Given the description of an element on the screen output the (x, y) to click on. 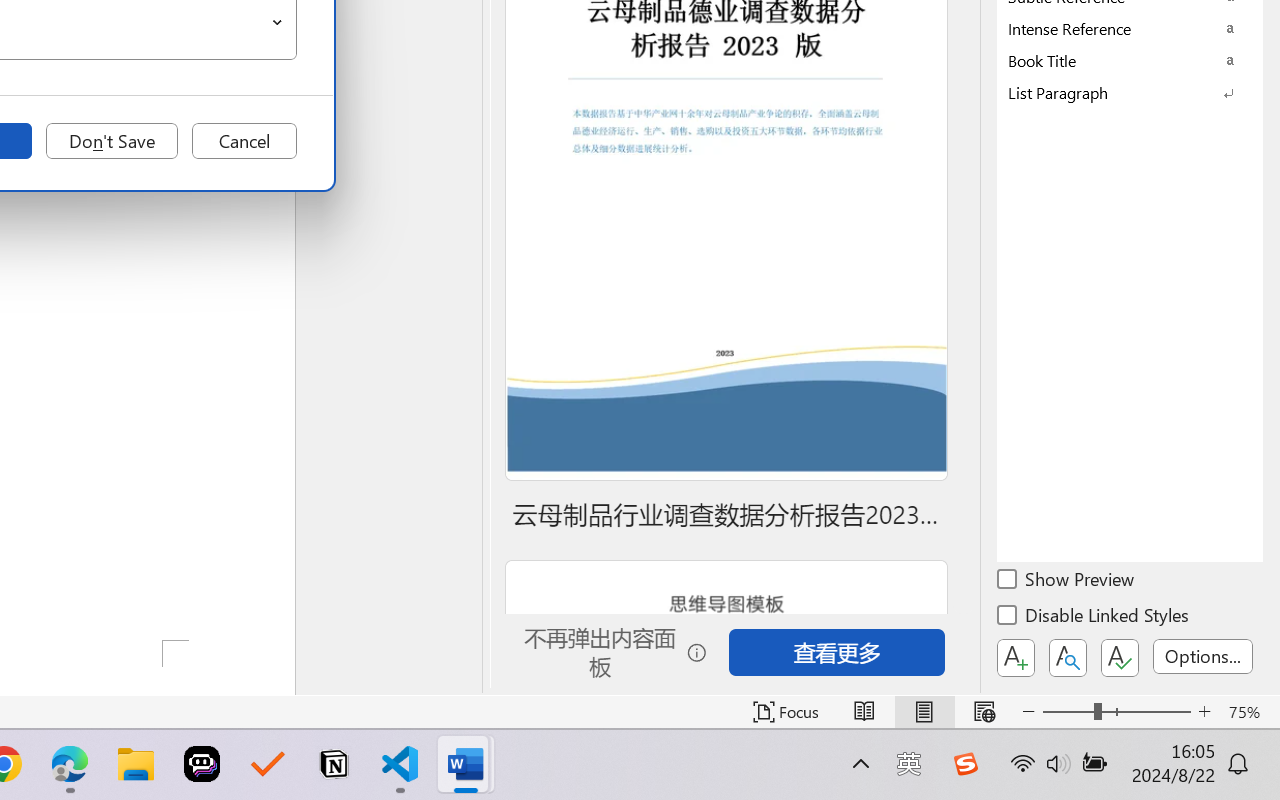
Focus  (786, 712)
Class: Image (965, 764)
List Paragraph (1130, 92)
Zoom (1116, 712)
Cancel (244, 141)
Zoom In (1204, 712)
Web Layout (984, 712)
Disable Linked Styles (1094, 618)
